Given the description of an element on the screen output the (x, y) to click on. 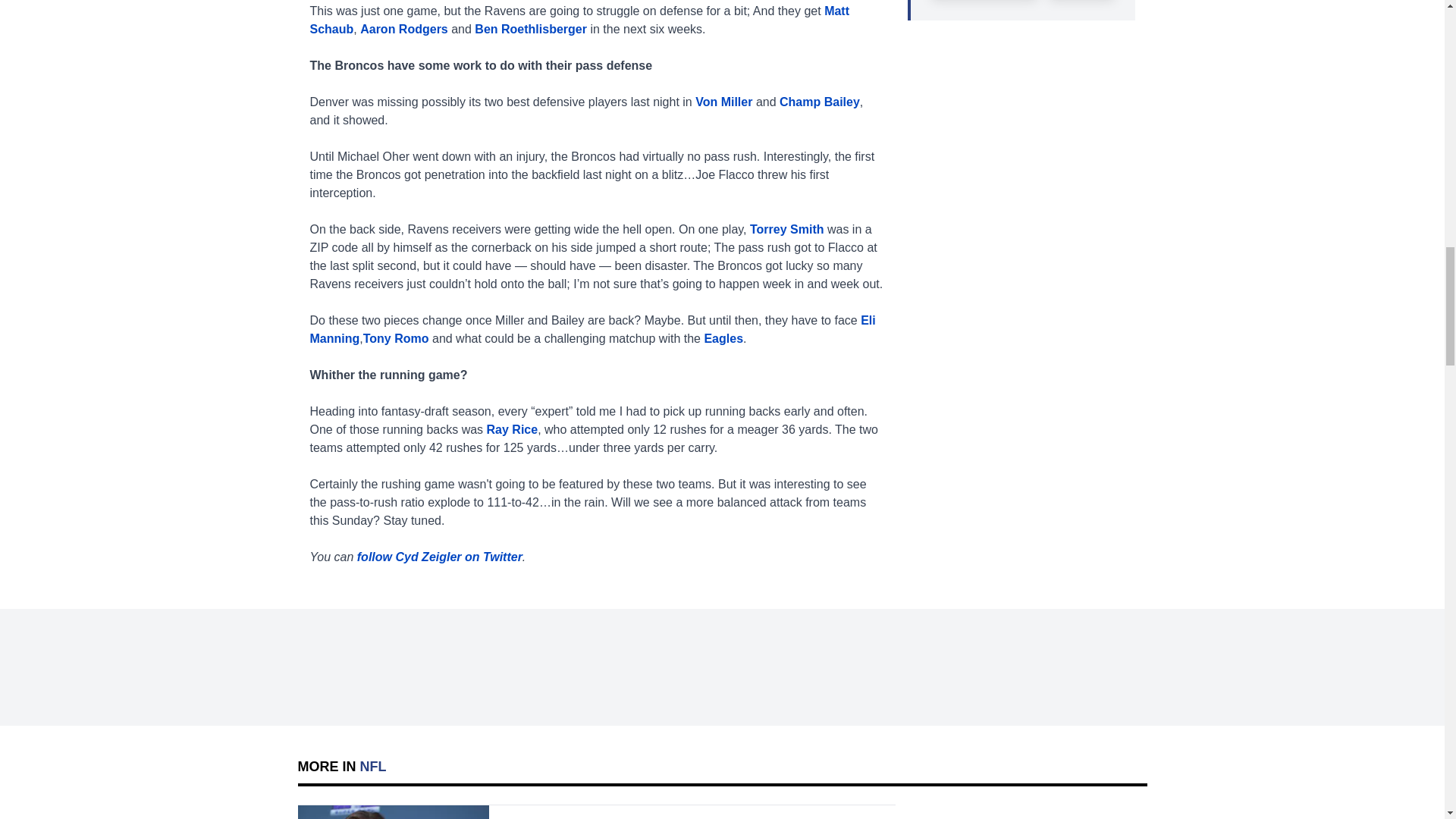
Aaron Rodgers (403, 29)
Champ Bailey (819, 101)
Torrey Smith (786, 228)
Matt Schaub (578, 20)
Ben Roethlisberger (530, 29)
Von Miller (723, 101)
